Given the description of an element on the screen output the (x, y) to click on. 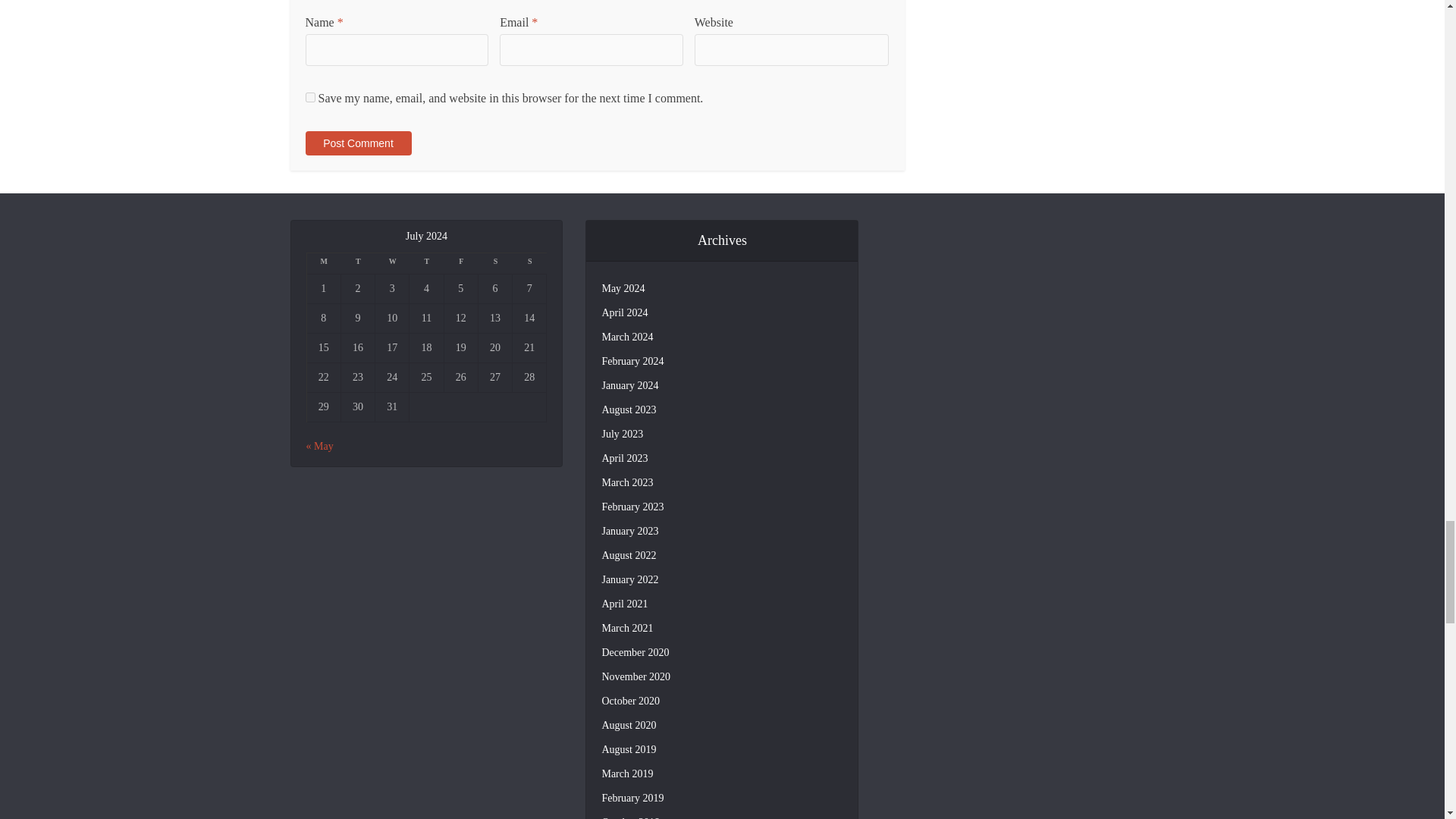
Monday (322, 263)
Post Comment (357, 143)
yes (309, 97)
Tuesday (357, 263)
Wednesday (392, 263)
